Given the description of an element on the screen output the (x, y) to click on. 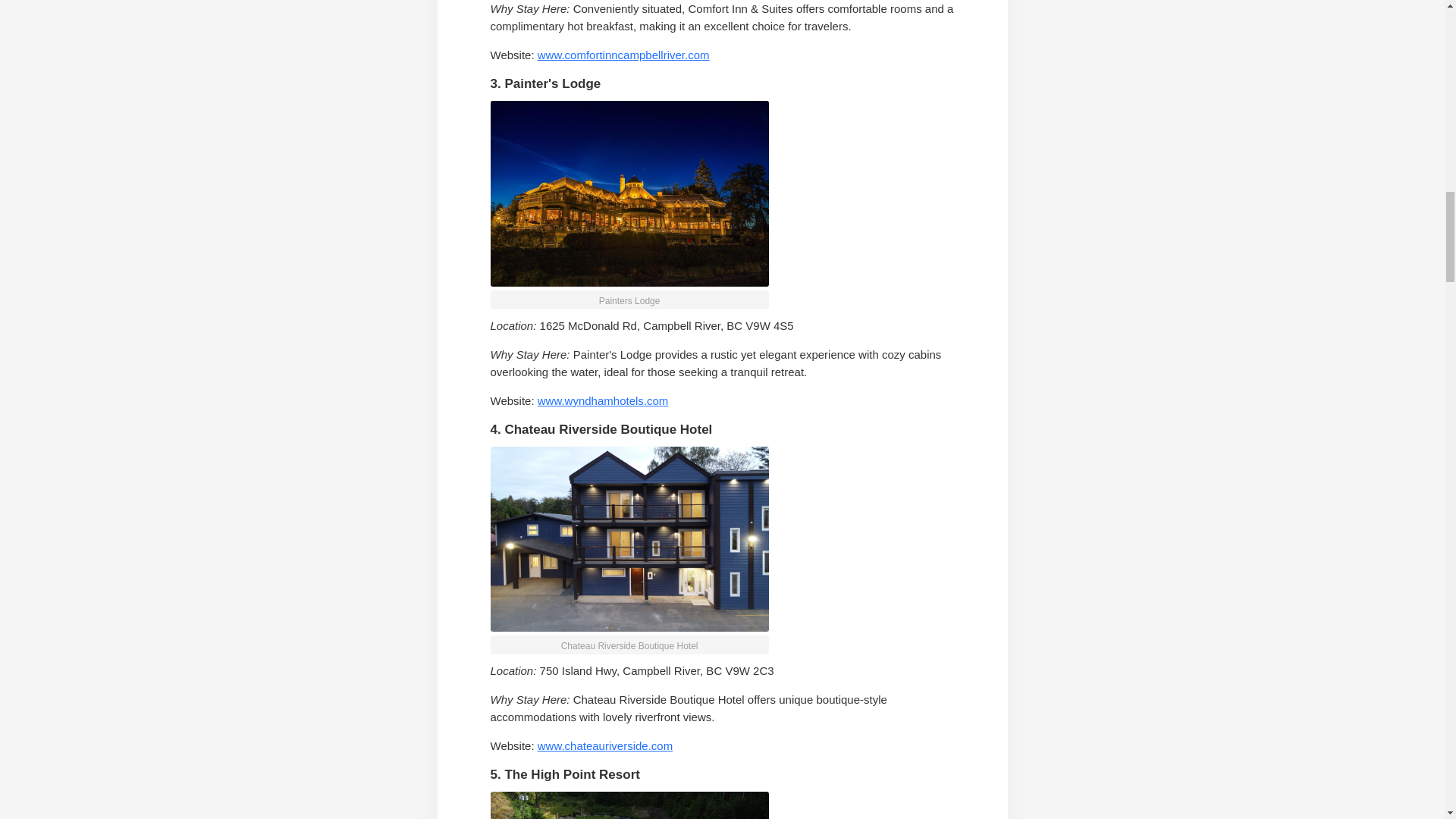
www.chateauriverside.com (604, 745)
www.wyndhamhotels.com (602, 400)
www.comfortinncampbellriver.com (623, 54)
